Given the description of an element on the screen output the (x, y) to click on. 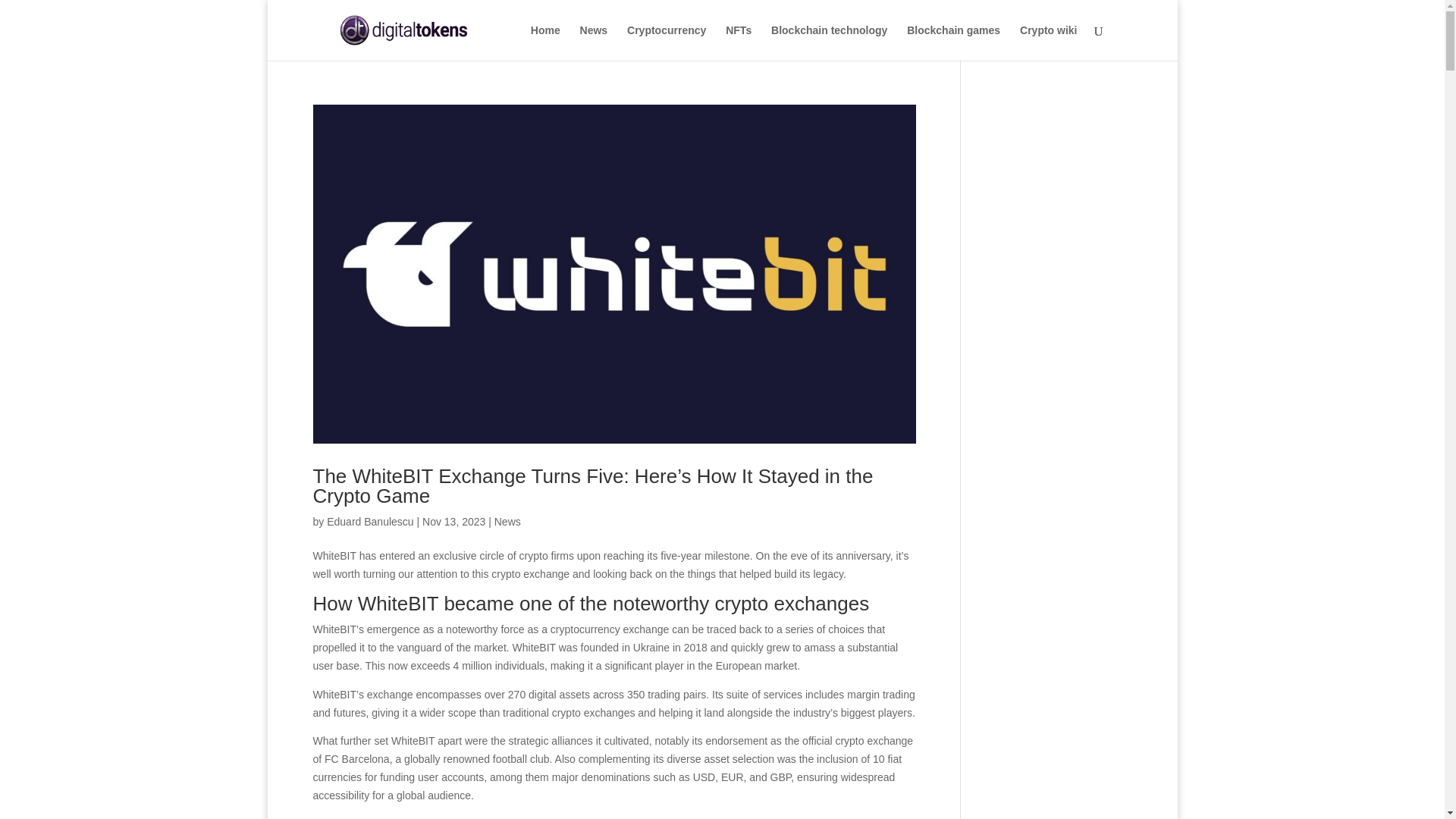
Eduard Banulescu (369, 521)
Blockchain games (953, 42)
Crypto wiki (1048, 42)
News (508, 521)
Blockchain technology (828, 42)
Cryptocurrency (666, 42)
Posts by Eduard Banulescu (369, 521)
